Given the description of an element on the screen output the (x, y) to click on. 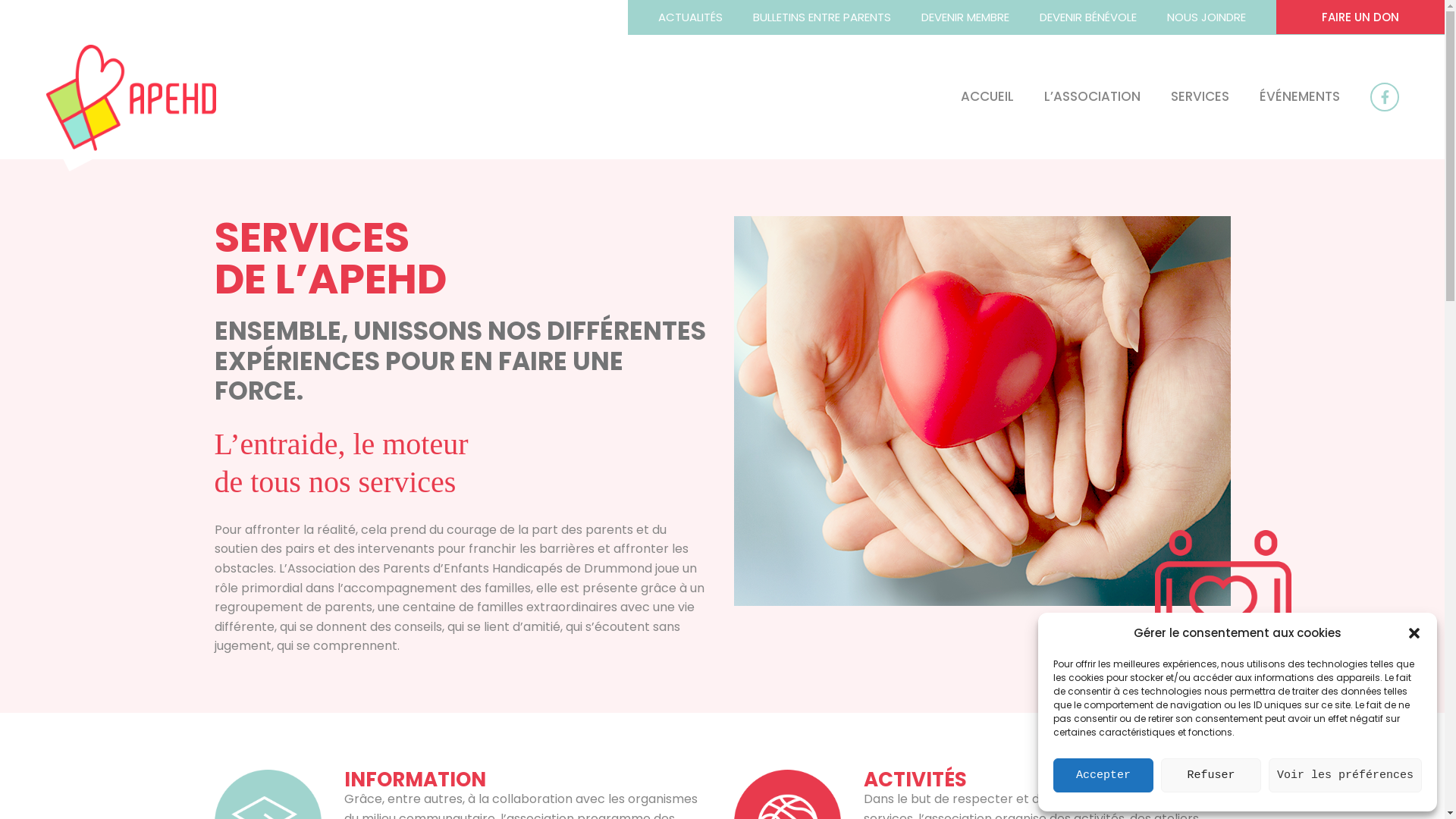
BULLETINS ENTRE PARENTS Element type: text (821, 17)
SERVICES Element type: text (1184, 96)
APEHD Element type: hover (130, 95)
DEVENIR MEMBRE Element type: text (965, 17)
Accepter Element type: text (1103, 775)
ACCUEIL Element type: text (971, 96)
Refuser Element type: text (1211, 775)
NOUS JOINDRE Element type: text (1206, 17)
APEHD Element type: hover (130, 95)
FAIRE UN DON Element type: text (1360, 17)
